Given the description of an element on the screen output the (x, y) to click on. 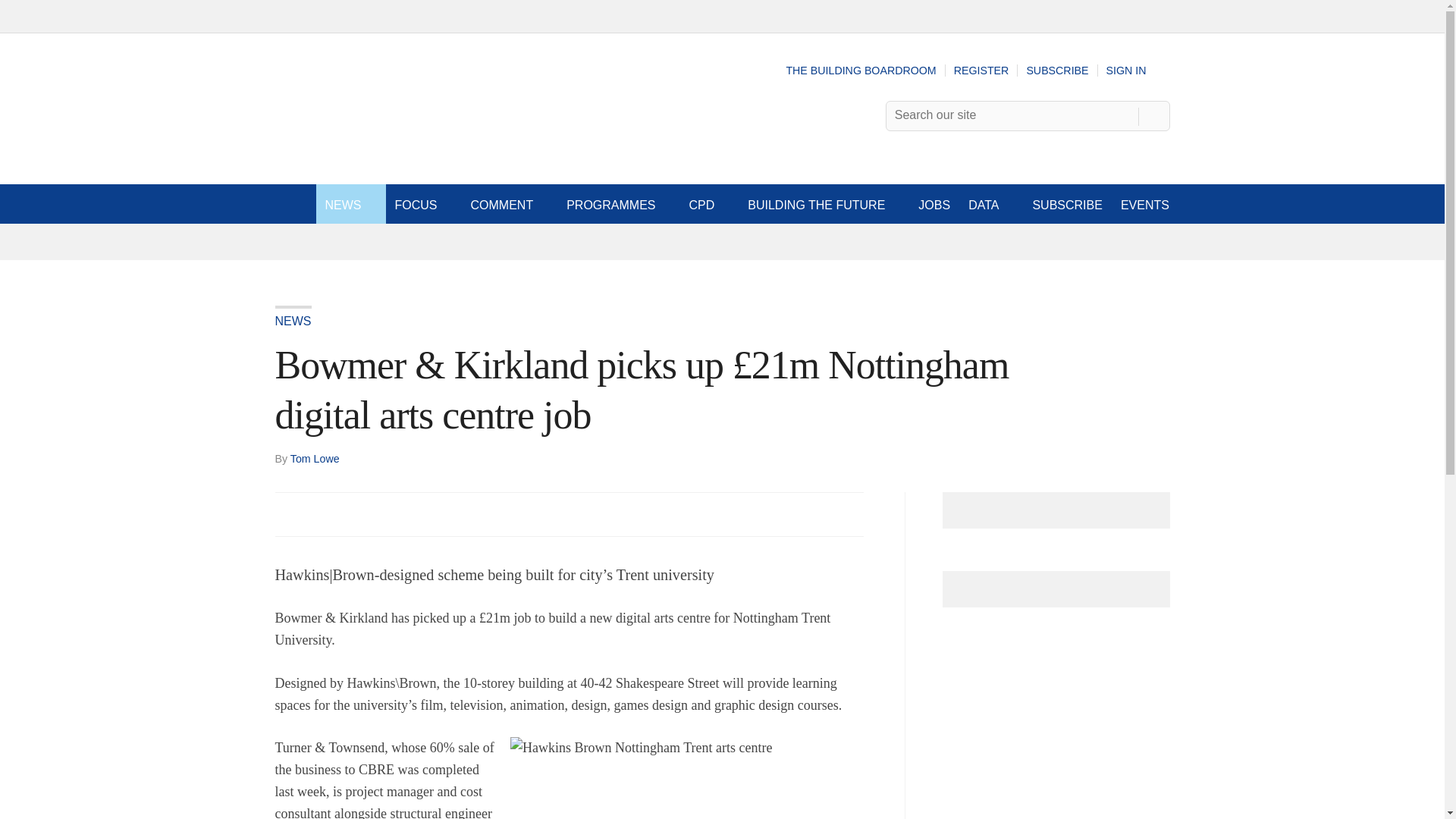
THE BUILDING BOARDROOM (861, 70)
SEARCH (1153, 115)
SIGN IN (1138, 70)
Share this on Linked in (352, 513)
No comments (840, 522)
REGISTER (981, 70)
Email this article (386, 513)
SUBSCRIBE (1056, 70)
Share this on Facebook (288, 513)
Insert Logo text (356, 152)
Share this on Twitter (320, 513)
